Given the description of an element on the screen output the (x, y) to click on. 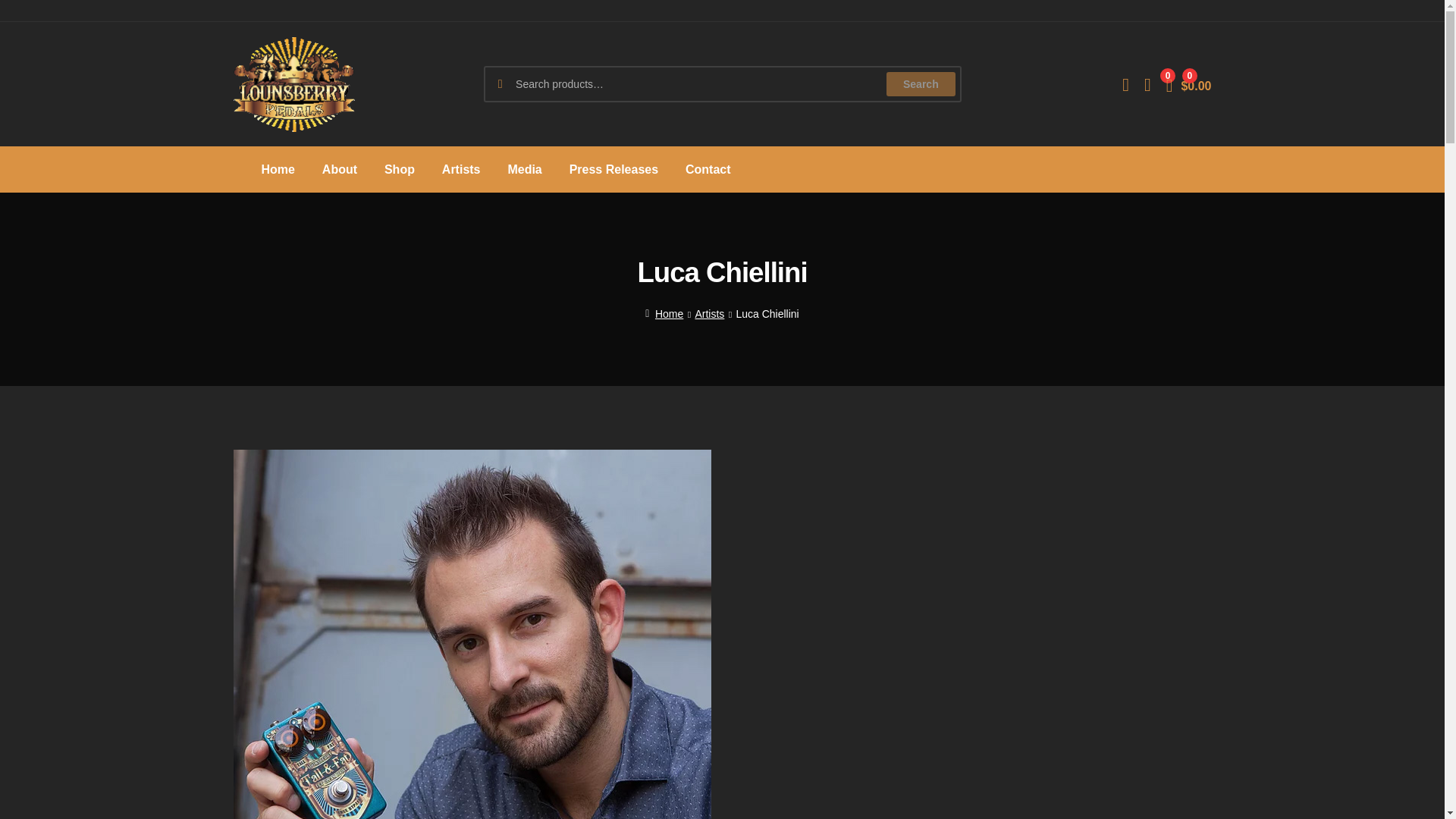
Home (276, 169)
About (339, 169)
Shop (399, 169)
View your shopping cart (1188, 84)
Press Releases (613, 169)
Contact (707, 169)
Media (524, 169)
Search (920, 84)
Artists (708, 313)
Home (663, 313)
Artists (461, 169)
